Given the description of an element on the screen output the (x, y) to click on. 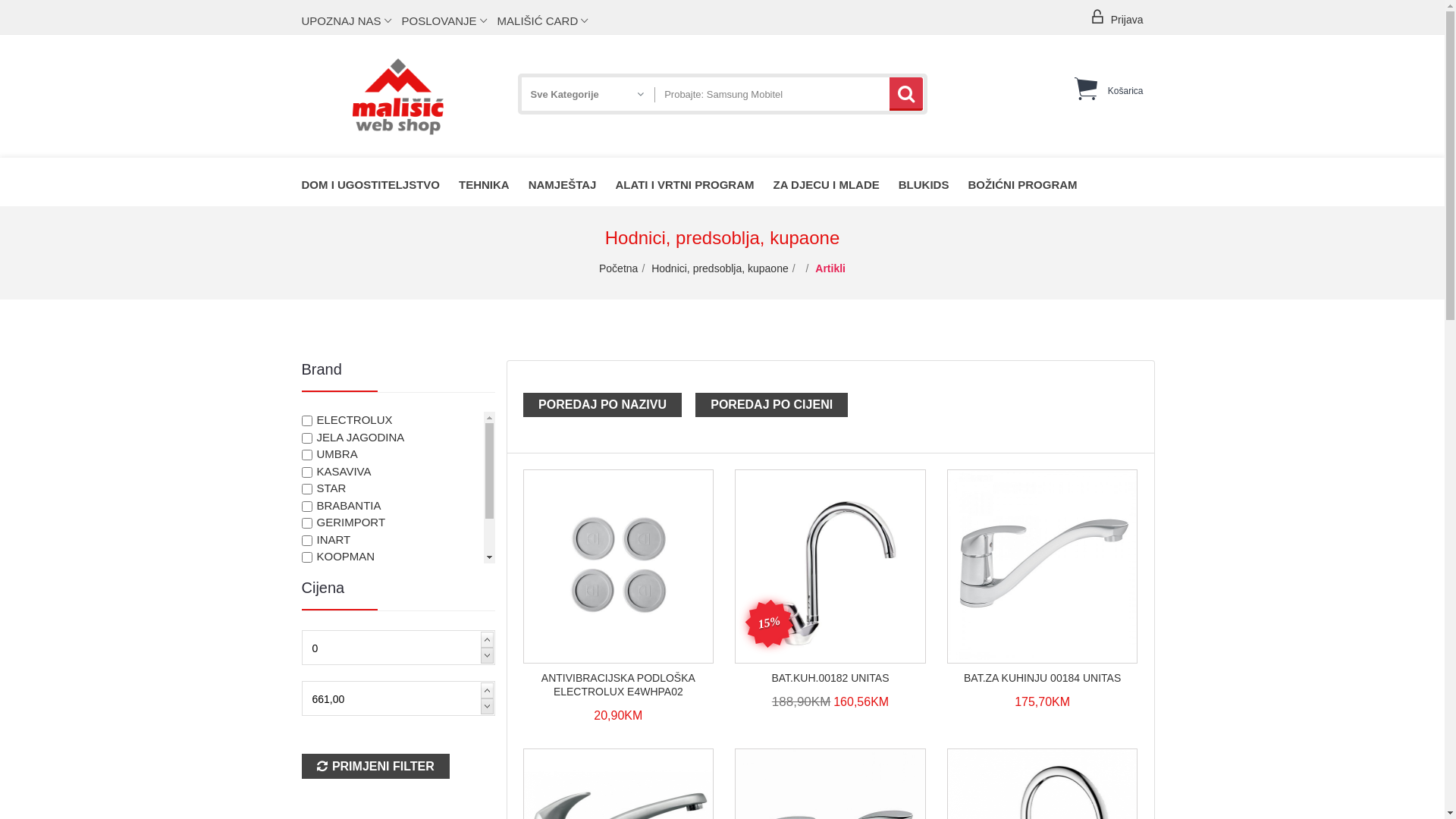
ZA DJECU I MLADE Element type: text (834, 181)
POREDAJ PO NAZIVU Element type: text (602, 404)
Hodnici, predsoblja, kupaone Element type: text (719, 268)
DOM I UGOSTITELJSTVO Element type: text (380, 181)
BLUKIDS Element type: text (933, 181)
BAT.KUH.00182 UNITAS Element type: text (829, 677)
Prijava Element type: text (1116, 14)
POREDAJ PO CIJENI Element type: text (771, 404)
PRIMJENI FILTER Element type: text (375, 765)
ALATI I VRTNI PROGRAM Element type: text (693, 181)
POSLOVANJE Element type: text (447, 20)
UPOZNAJ NAS Element type: text (349, 20)
BAT.ZA KUHINJU 00184 UNITAS Element type: text (1042, 677)
TEHNIKA Element type: text (493, 181)
